Given the description of an element on the screen output the (x, y) to click on. 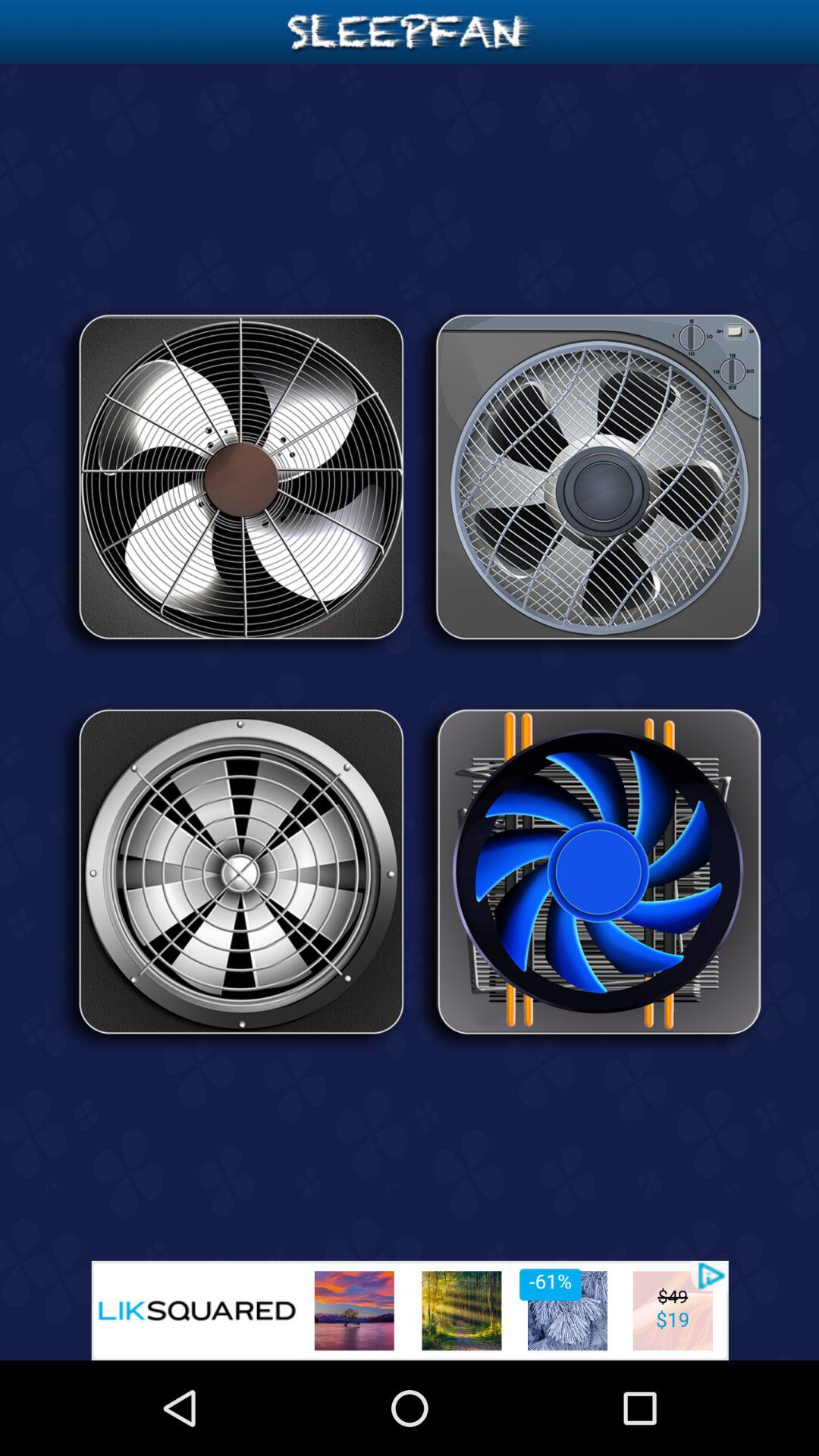
turn off the icon at the top right corner (587, 482)
